Given the description of an element on the screen output the (x, y) to click on. 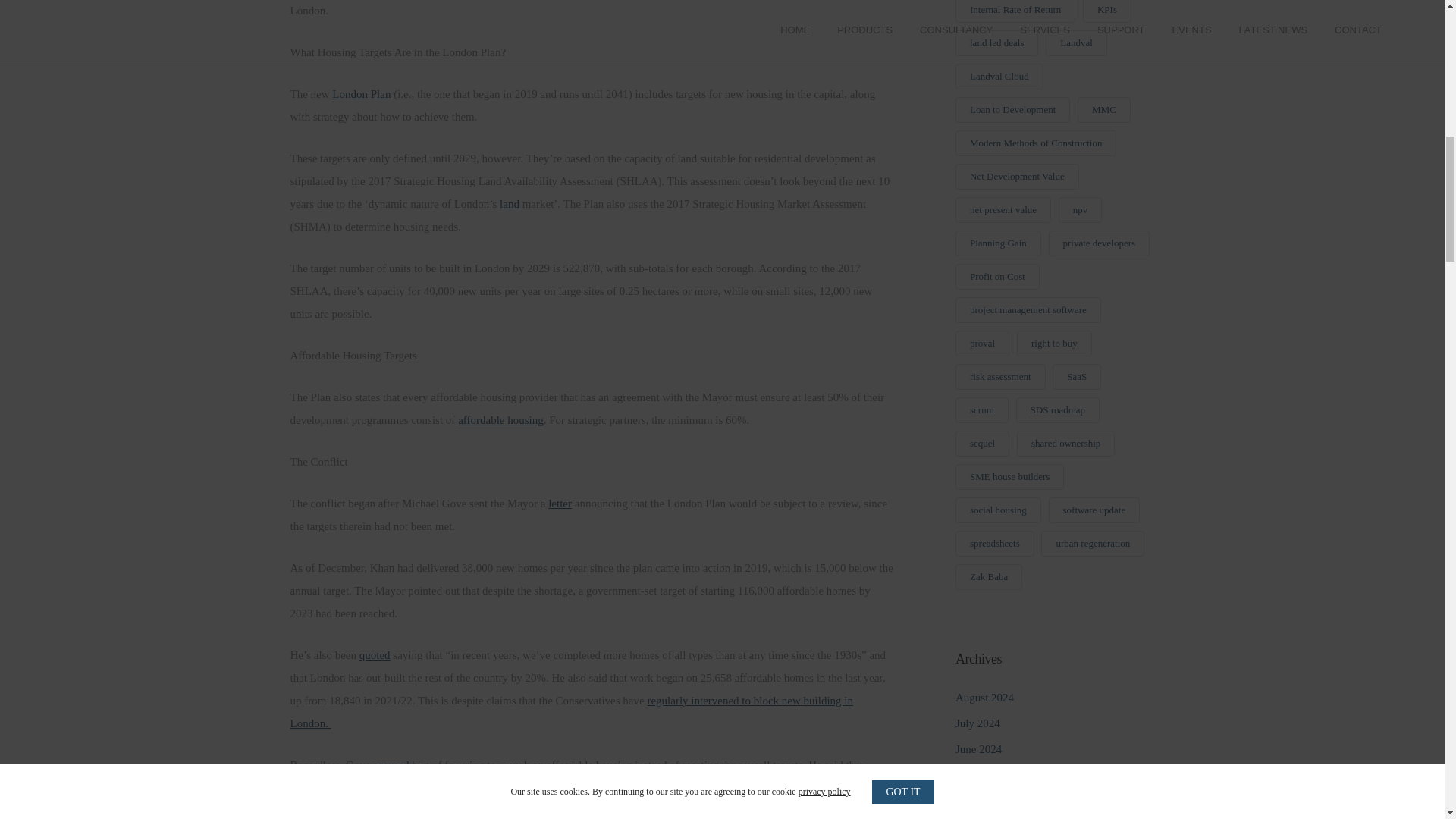
quoted (374, 654)
London Plan (360, 93)
accused (390, 765)
letter (560, 503)
affordable housing (500, 419)
land (509, 203)
regularly intervened to block new building in London.  (571, 711)
